Given the description of an element on the screen output the (x, y) to click on. 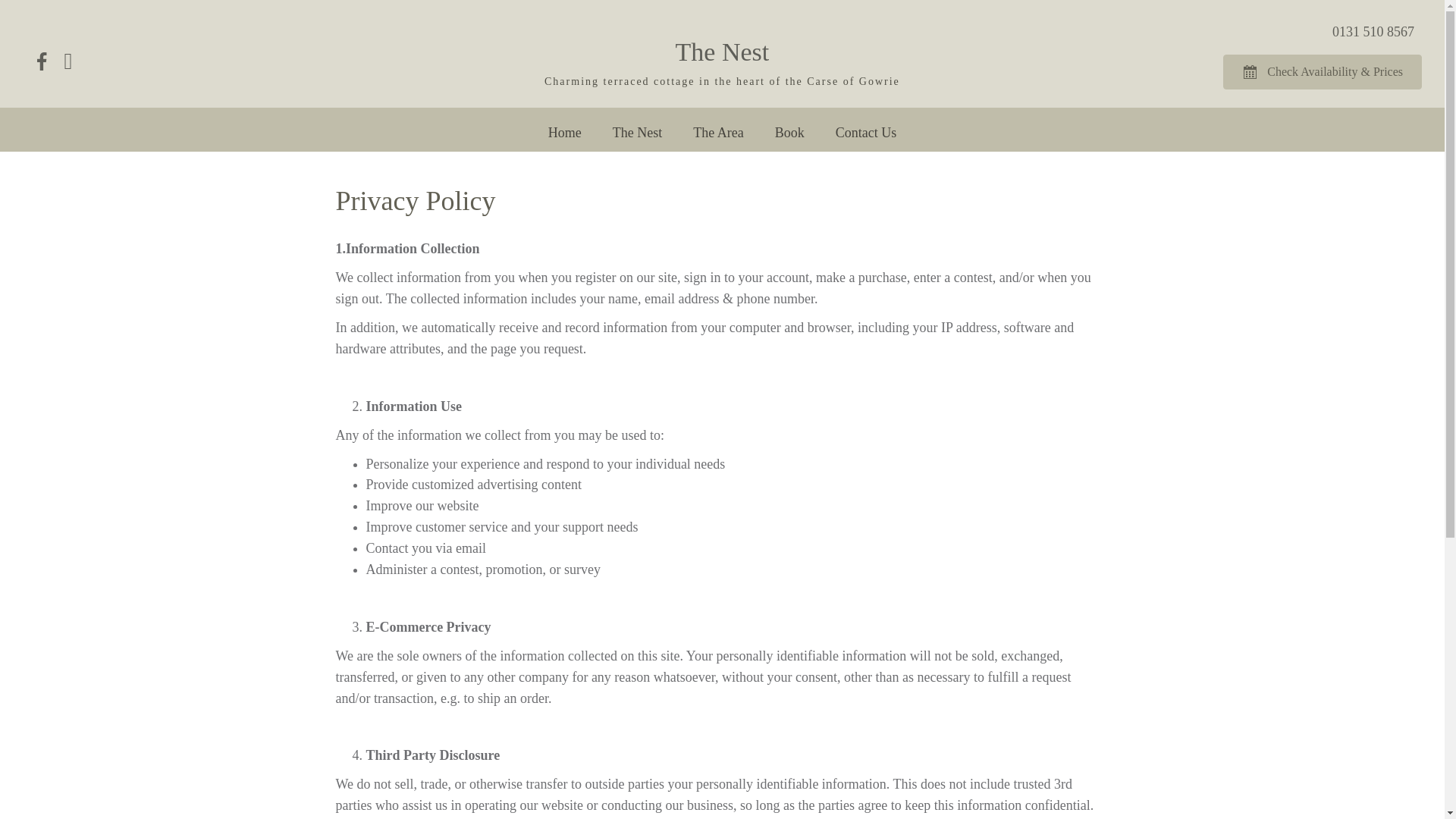
Book (789, 133)
The Nest (722, 51)
The Area (718, 133)
Contact Us (866, 133)
The Nest (722, 51)
Home (564, 133)
The Nest (636, 133)
0131 510 8567 (1372, 31)
